Given the description of an element on the screen output the (x, y) to click on. 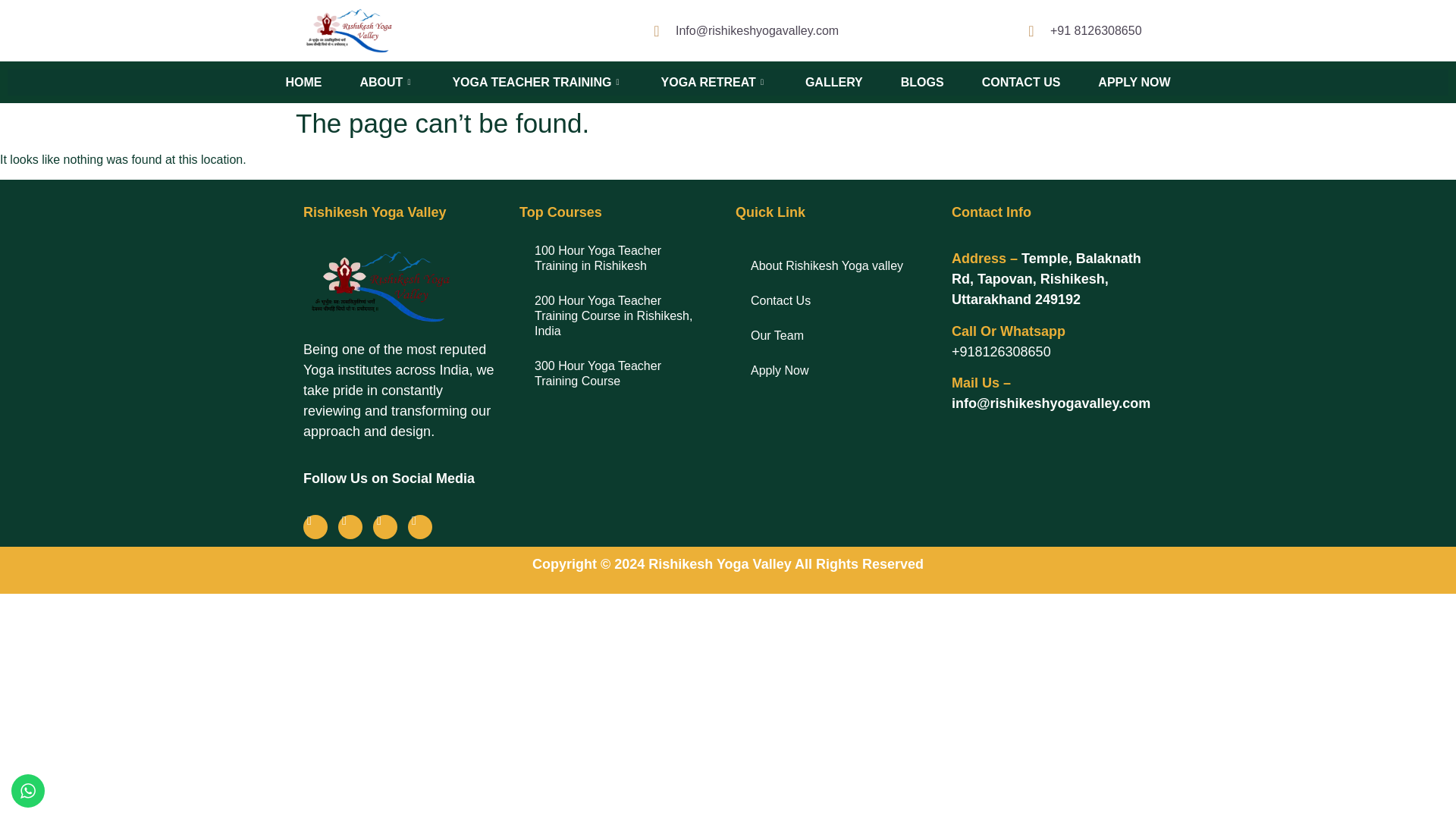
GALLERY (834, 81)
APPLY NOW (1133, 81)
BLOGS (922, 81)
CONTACT US (1021, 81)
About Rishikesh Yoga valley (835, 265)
100 Hour Yoga Teacher Training in Rishikesh (619, 258)
YOGA TEACHER TRAINING (537, 81)
200 Hour Yoga Teacher Training Course in Rishikesh, India (619, 315)
PNG LOGO (378, 286)
300 Hour Yoga Teacher Training Course (619, 373)
HOME (304, 81)
ABOUT (387, 81)
YOGA RETREAT (713, 81)
